Given the description of an element on the screen output the (x, y) to click on. 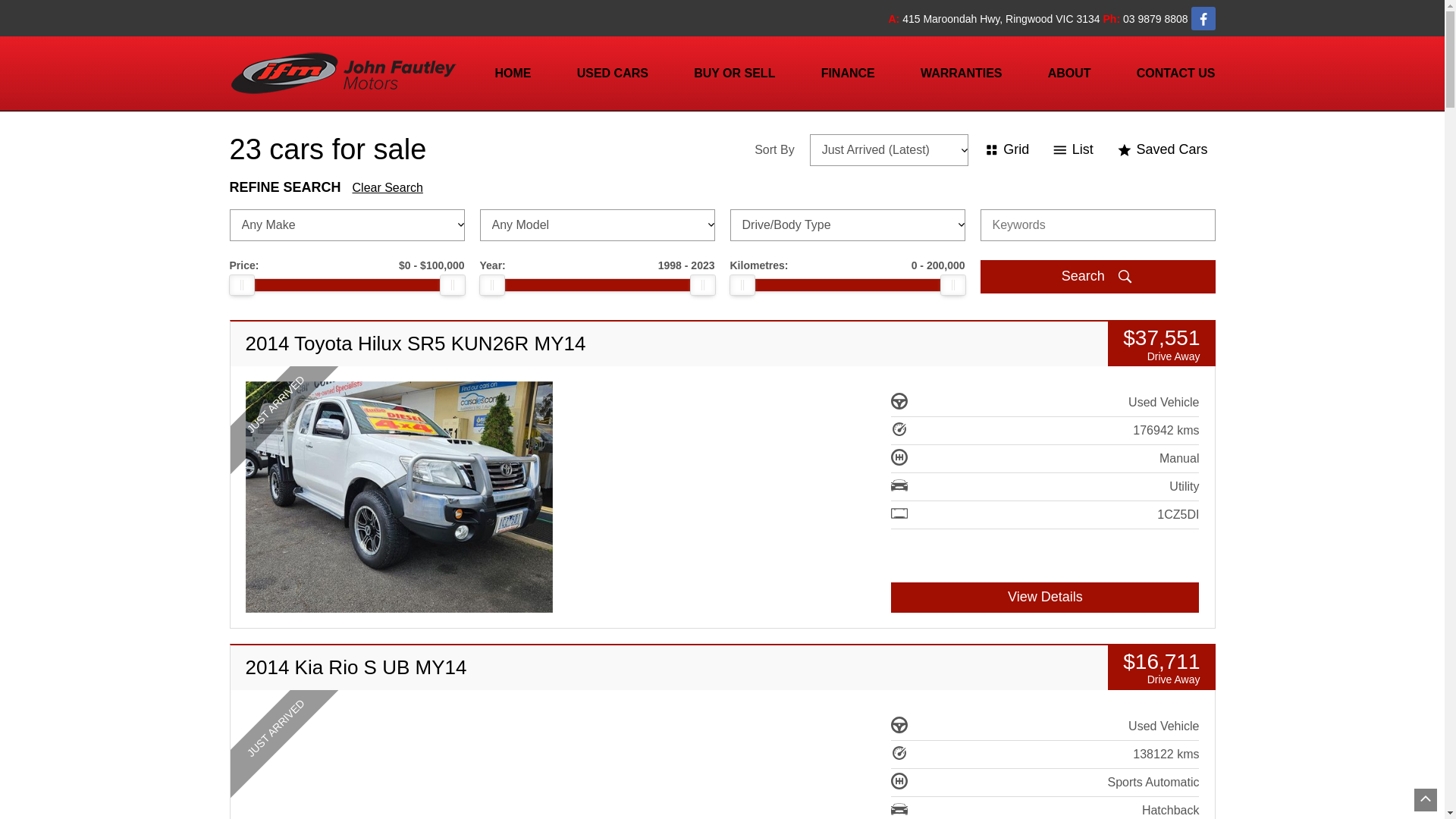
A: 415 Maroondah Hwy, Ringwood VIC 3134 Element type: text (995, 18)
View Details Element type: text (1044, 597)
HOME Element type: text (512, 73)
CONTACT US Element type: text (1172, 73)
Clear Search Element type: text (387, 188)
Search Element type: text (1096, 276)
USED CARS Element type: text (612, 73)
FINANCE Element type: text (847, 73)
2014 Toyota Hilux SR5 KUN26R MY14 Element type: hover (399, 496)
Grid Element type: text (1006, 150)
ABOUT Element type: text (1069, 73)
BUY OR SELL Element type: text (734, 73)
Ph: 03 9879 8808 Element type: text (1147, 18)
Saved Cars Element type: text (1161, 150)
List Element type: text (1072, 150)
WARRANTIES Element type: text (961, 73)
